Given the description of an element on the screen output the (x, y) to click on. 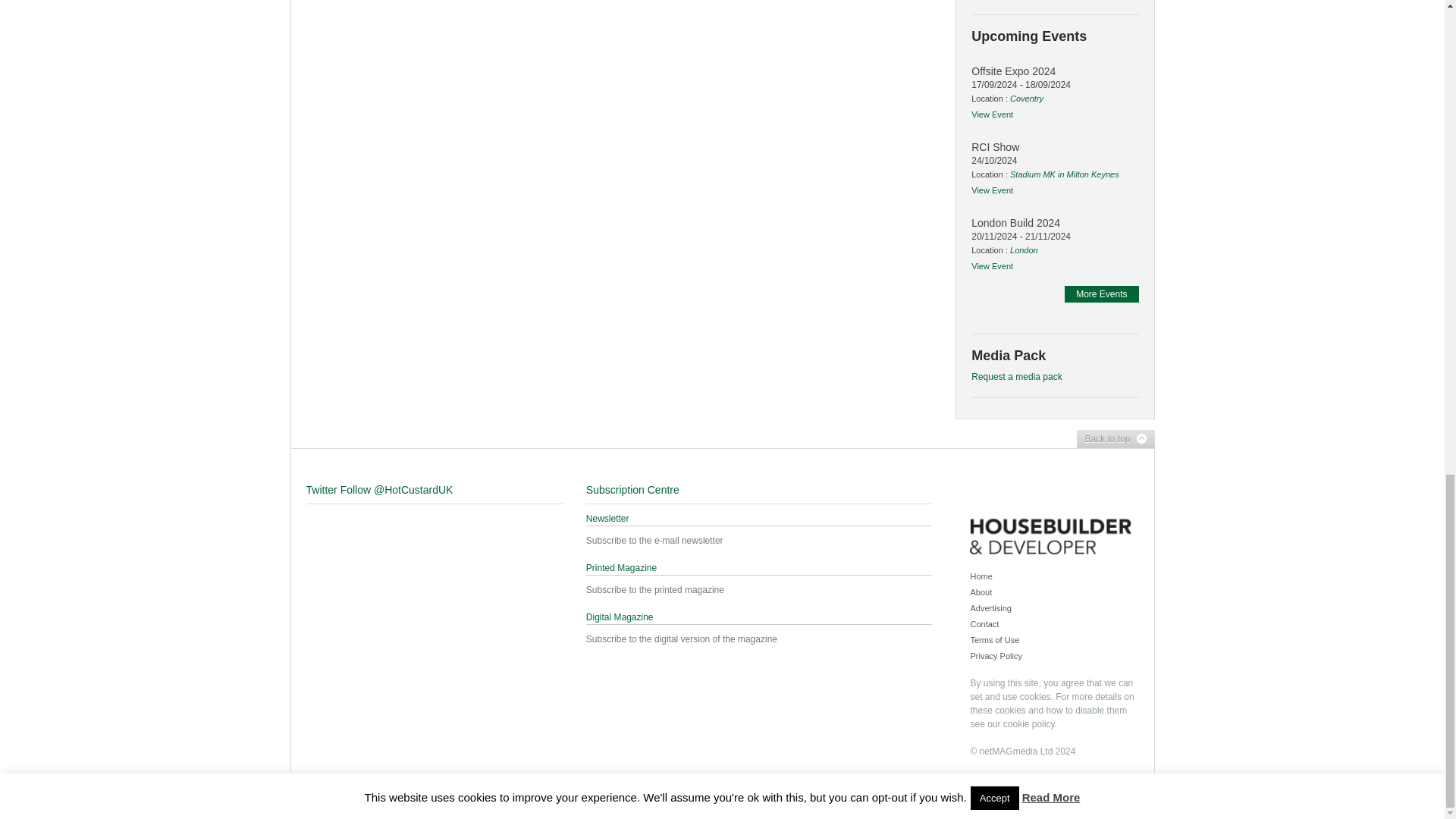
Sussex web designers (367, 781)
View London Build 2024 (1054, 240)
Digital Subscription (759, 617)
View RCI Show (1054, 164)
View Offsite Expo 2024 (1054, 88)
